Given the description of an element on the screen output the (x, y) to click on. 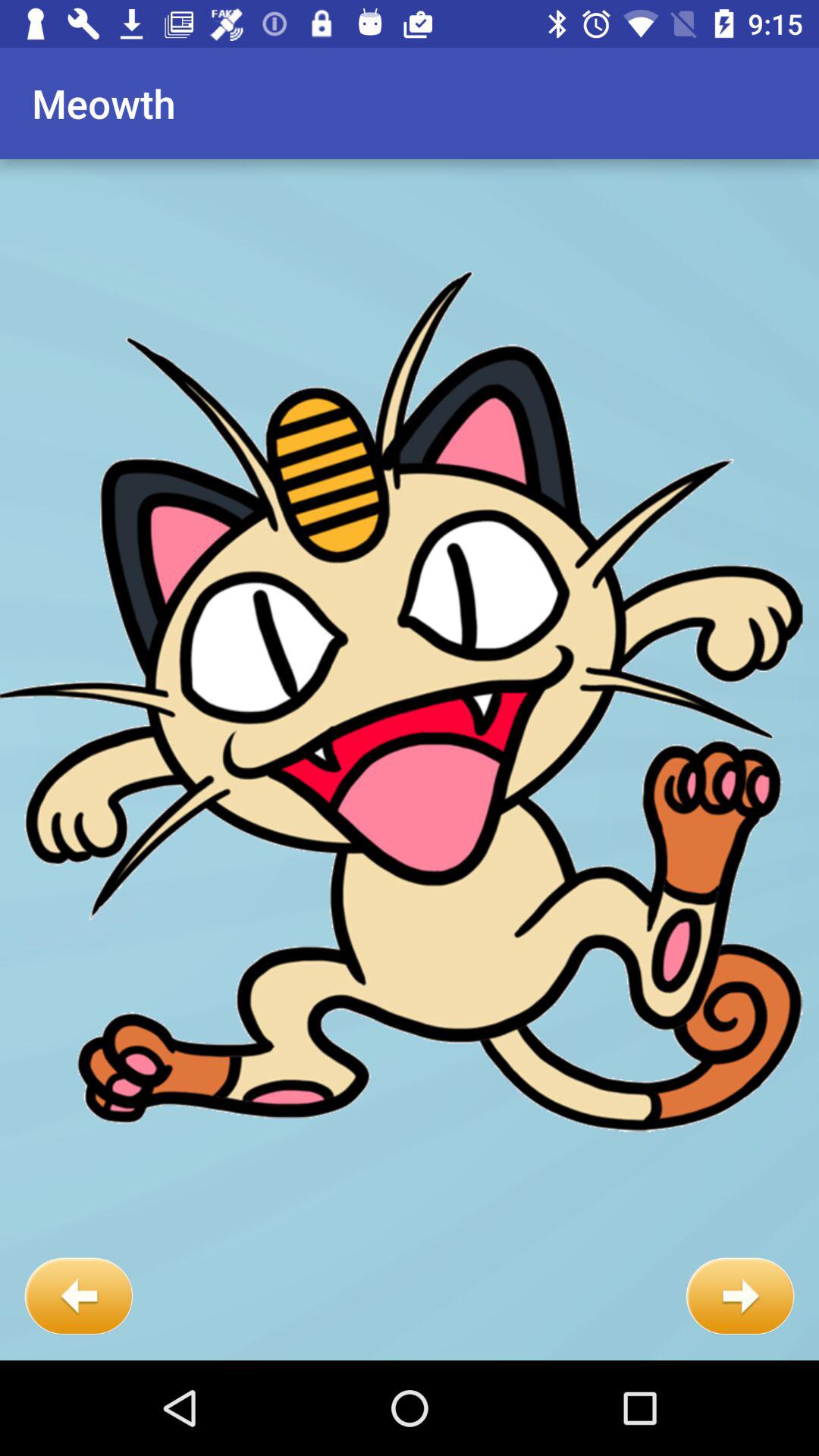
open icon at the bottom left corner (78, 1296)
